Given the description of an element on the screen output the (x, y) to click on. 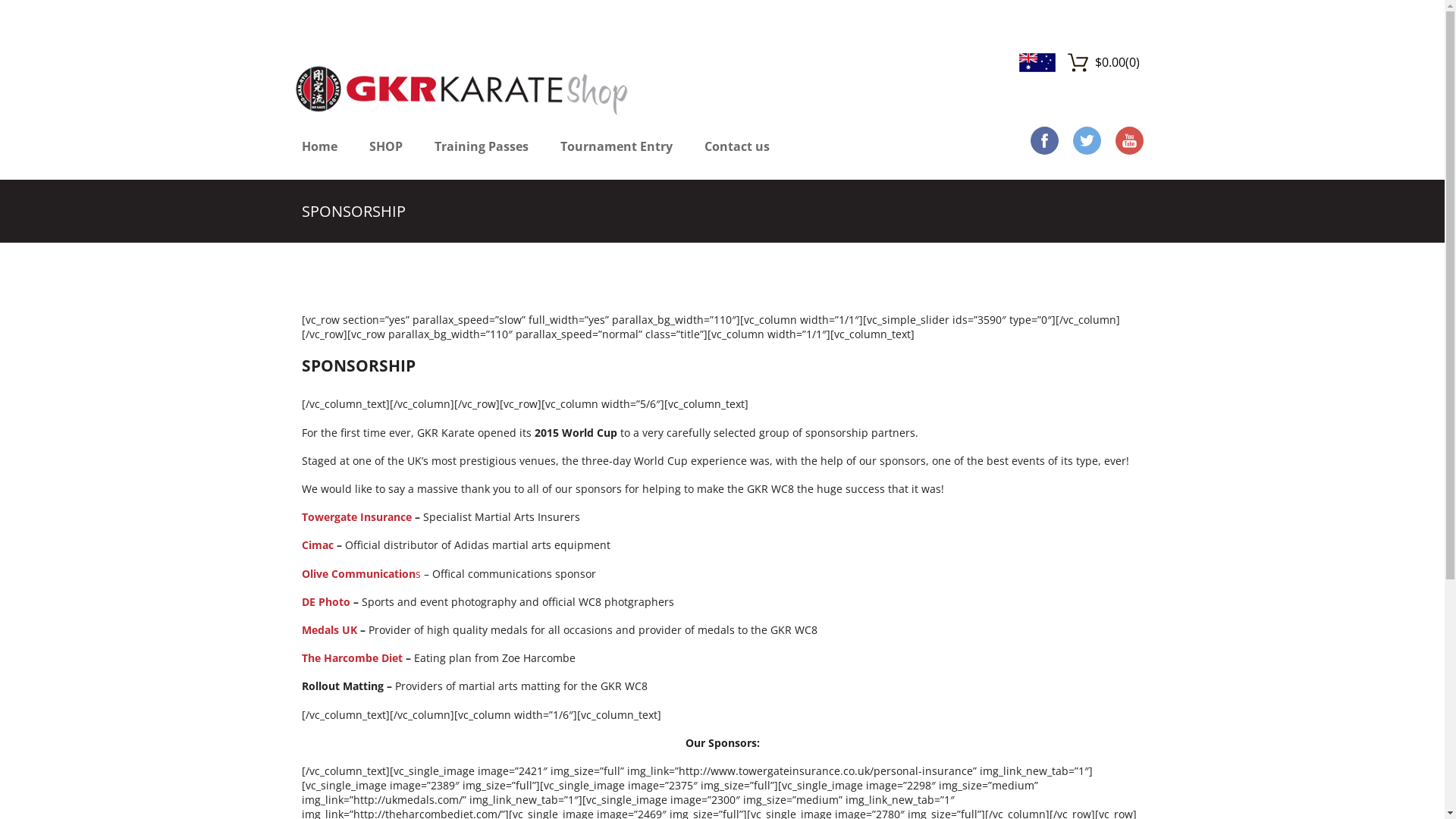
Contact us Element type: text (735, 154)
The Harcombe Diet Element type: text (351, 657)
Medals UK Element type: text (329, 629)
Towergate Insurance Element type: text (356, 516)
Olive Communications Element type: text (360, 573)
Cimac Element type: text (317, 544)
SHOP Element type: text (384, 154)
$0.00(0) Element type: text (1103, 62)
Tournament Entry Element type: text (615, 154)
Home Element type: text (319, 154)
GKR Karate Element type: hover (461, 86)
DE Photo Element type: text (325, 601)
Training Passes Element type: text (480, 154)
